Given the description of an element on the screen output the (x, y) to click on. 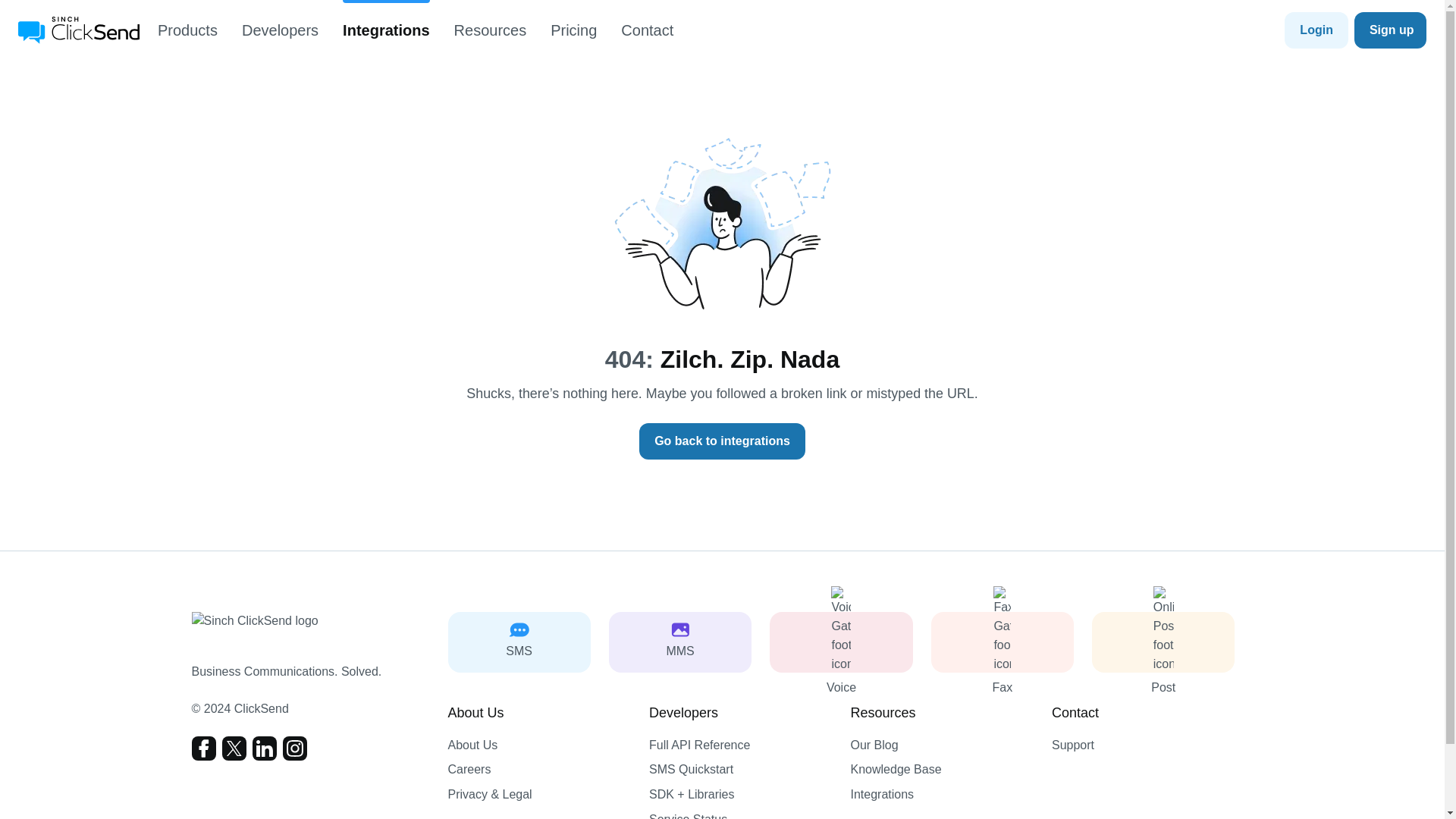
About Us (538, 745)
Full API Reference (740, 745)
Facebook (202, 748)
Integrations (385, 30)
SMS (517, 641)
Go back to integrations (722, 441)
Full API Reference (740, 745)
Careers (538, 769)
MMS (679, 641)
ClickSend (78, 29)
